Given the description of an element on the screen output the (x, y) to click on. 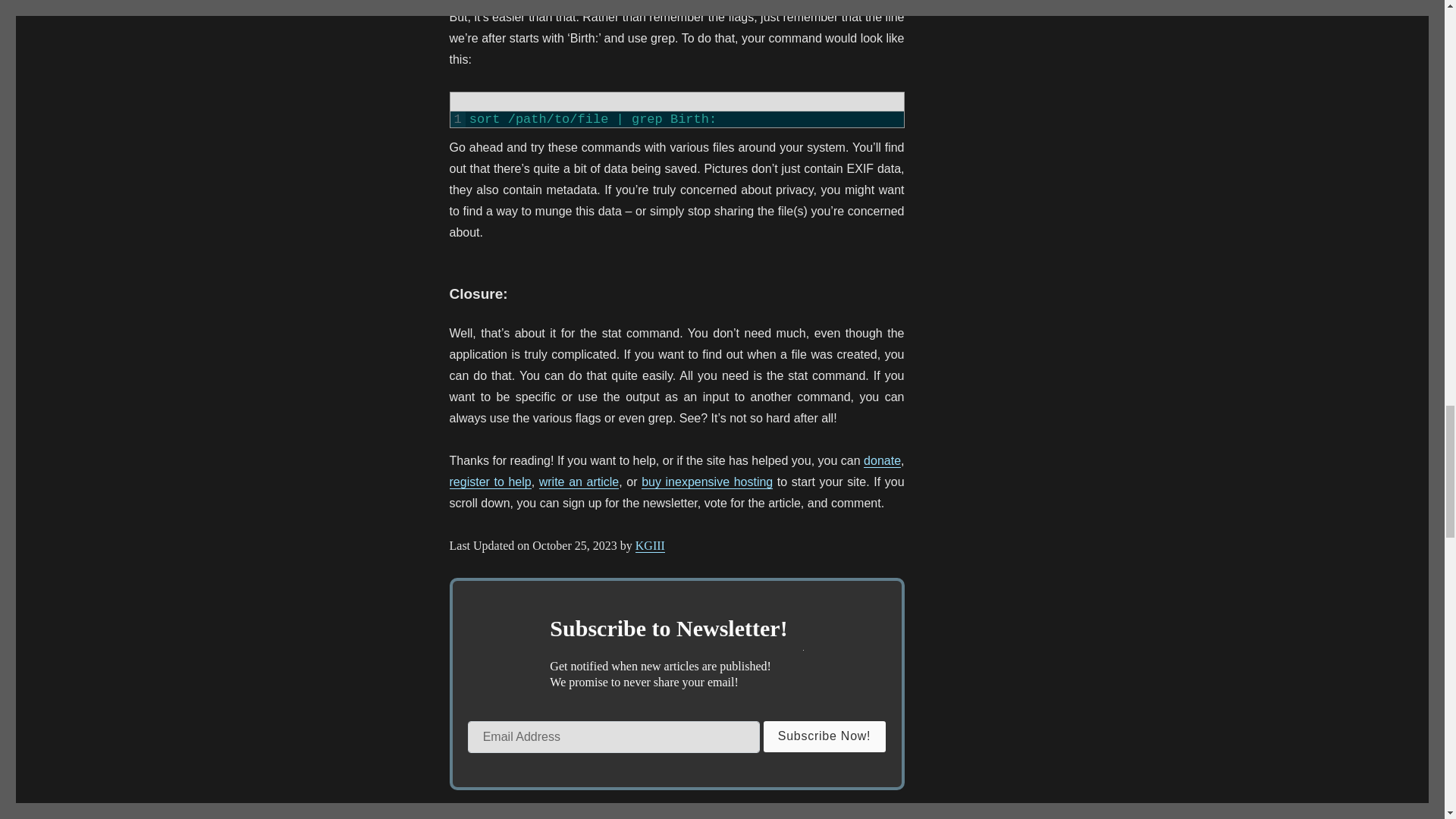
buy inexpensive hosting (707, 481)
KGIII (649, 545)
write an article (578, 481)
Subscribe Now! (824, 736)
donate (882, 460)
register to help (489, 481)
Subscribe Now! (824, 736)
